Given the description of an element on the screen output the (x, y) to click on. 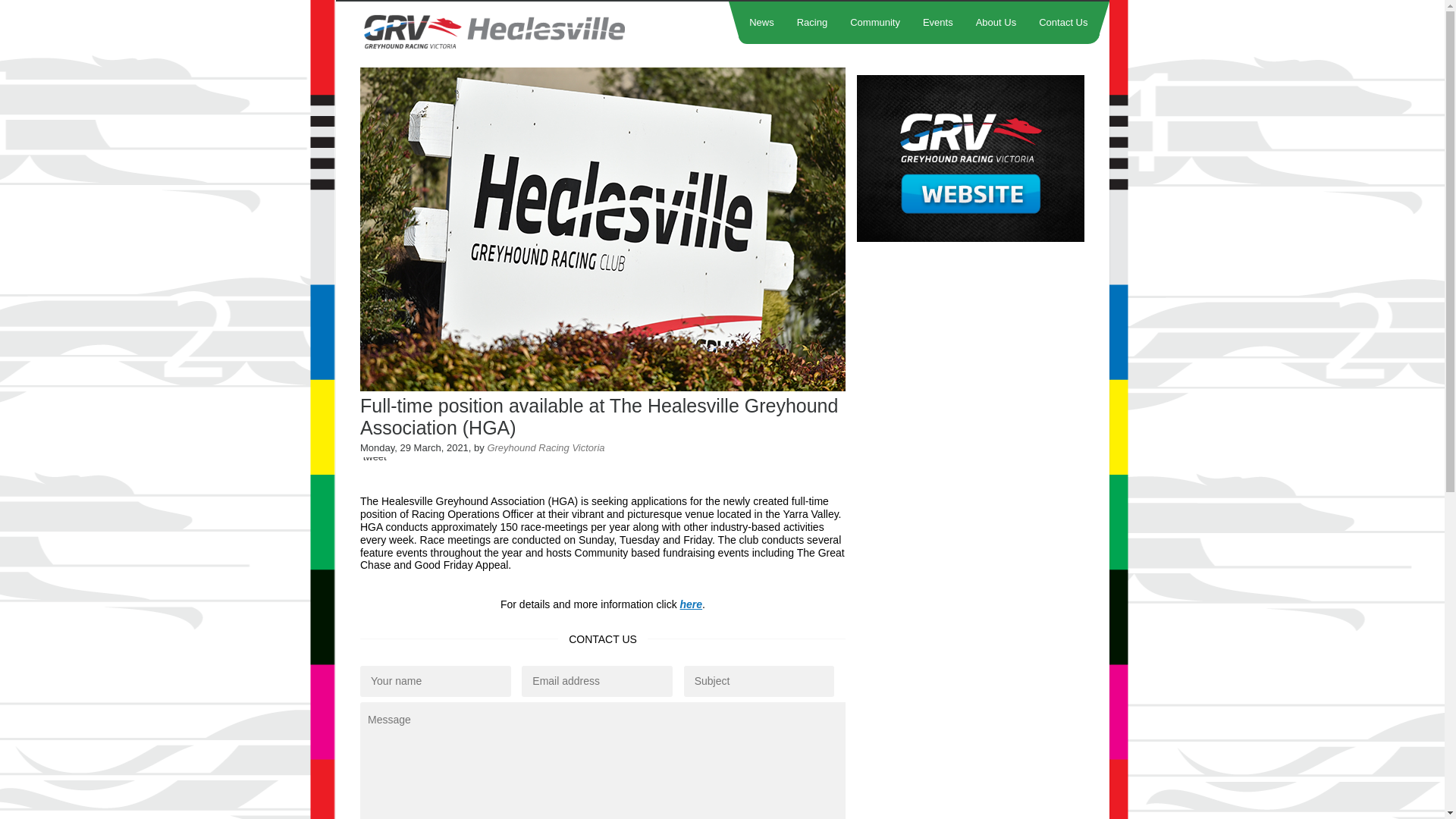
Racing Element type: text (811, 22)
  Element type: hover (970, 238)
Healesville Greyhound Association Inc. Element type: hover (525, 31)
here Element type: text (691, 604)
About Us Element type: text (995, 22)
News Element type: text (761, 22)
tweet Element type: text (374, 456)
Community Element type: text (874, 22)
Events Element type: text (937, 22)
Contact Us Element type: text (1062, 22)
